Given the description of an element on the screen output the (x, y) to click on. 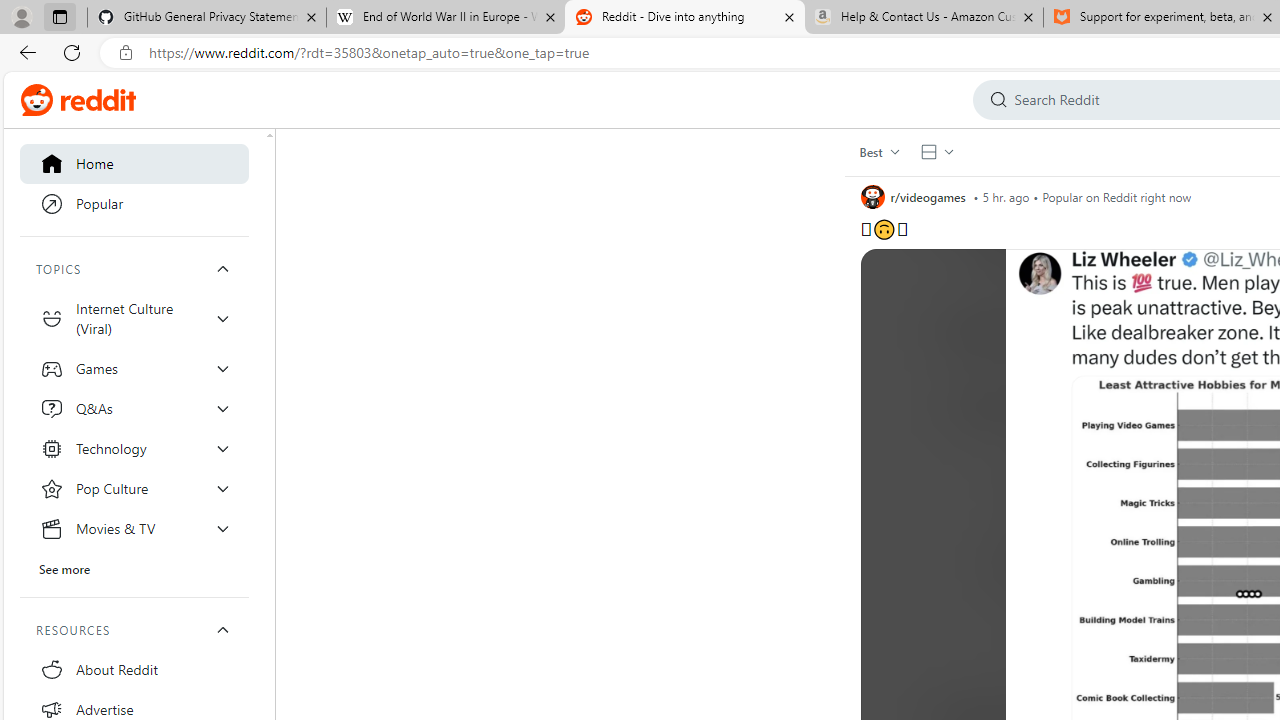
Games (134, 368)
End of World War II in Europe - Wikipedia (445, 17)
Popular (134, 203)
RESOURCES (134, 629)
GitHub General Privacy Statement - GitHub Docs (207, 17)
Movies & TV (134, 528)
r/videogames icon (872, 196)
